Given the description of an element on the screen output the (x, y) to click on. 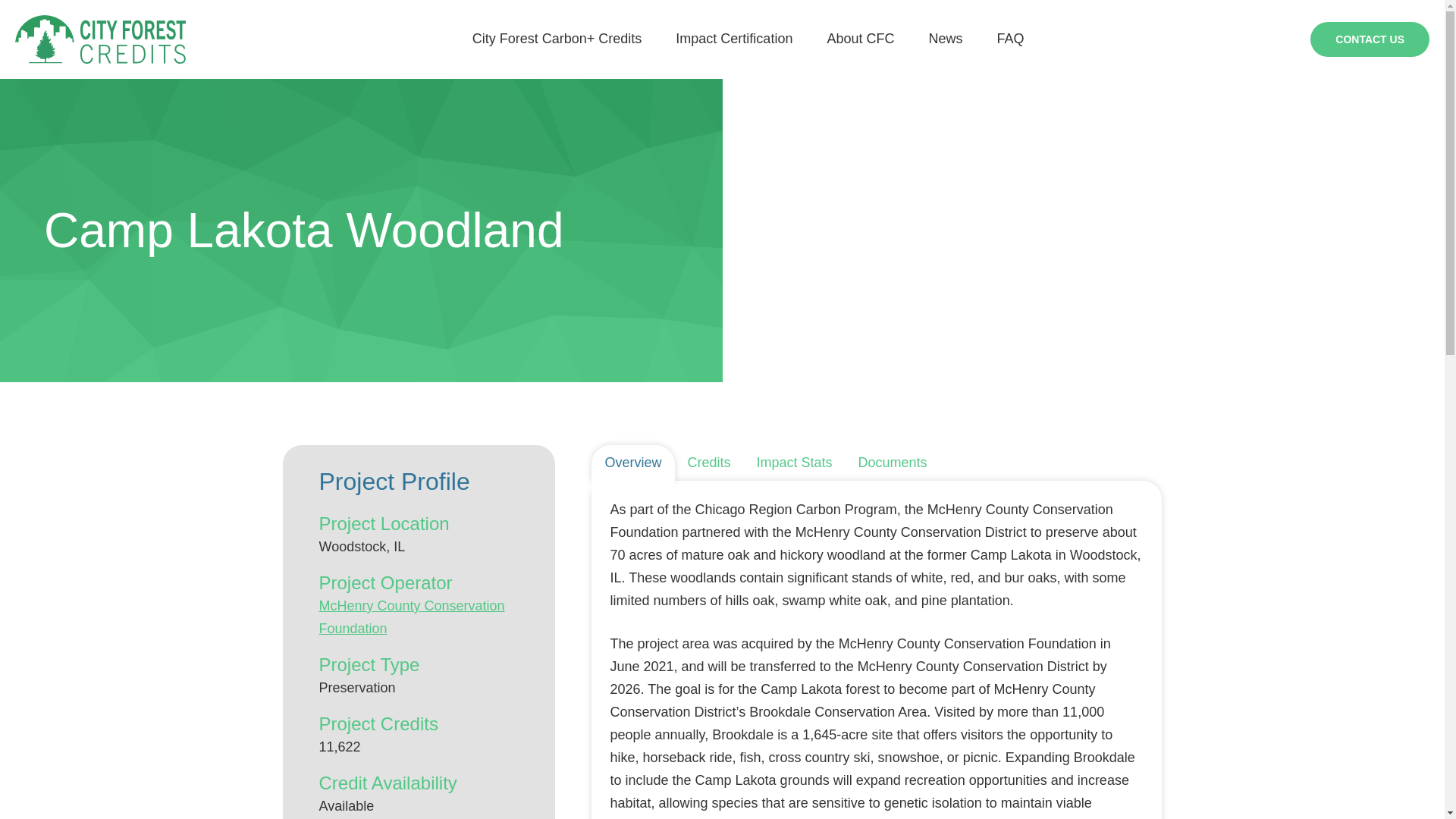
CONTACT US (1369, 39)
Overview (632, 463)
Credits (709, 463)
Impact Stats (794, 463)
Documents (892, 463)
McHenry County Conservation Foundation (410, 617)
FAQ (1009, 38)
CONTACT US (1369, 38)
About CFC (860, 38)
Impact Certification (733, 38)
News (945, 38)
